Given the description of an element on the screen output the (x, y) to click on. 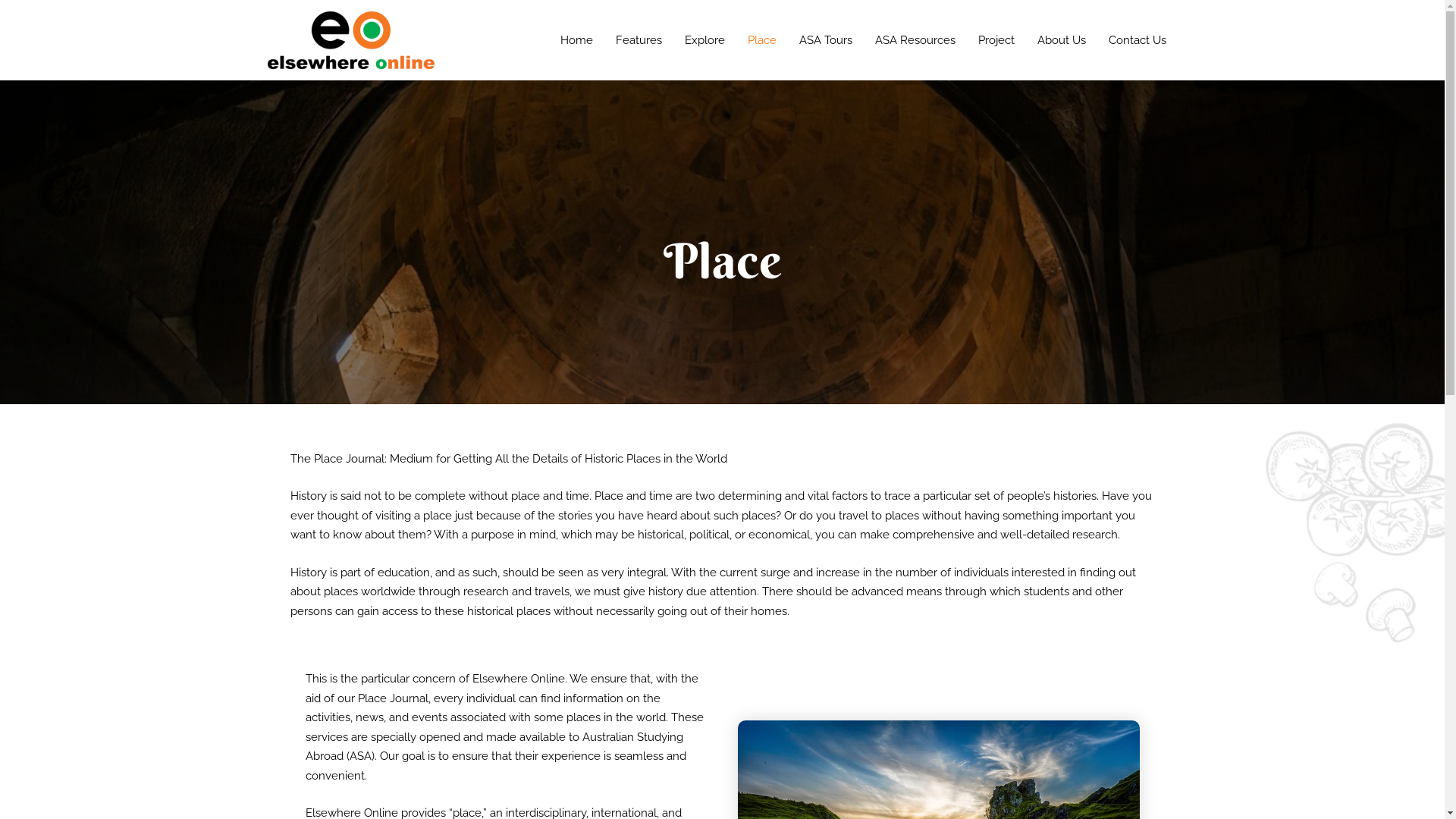
Project Element type: text (995, 40)
Place Element type: text (761, 40)
Contact Us Element type: text (1136, 40)
ASA Resources Element type: text (914, 40)
ASA Tours Element type: text (824, 40)
Explore Element type: text (704, 40)
About Us Element type: text (1060, 40)
Home Element type: text (576, 40)
Features Element type: text (637, 40)
